Given the description of an element on the screen output the (x, y) to click on. 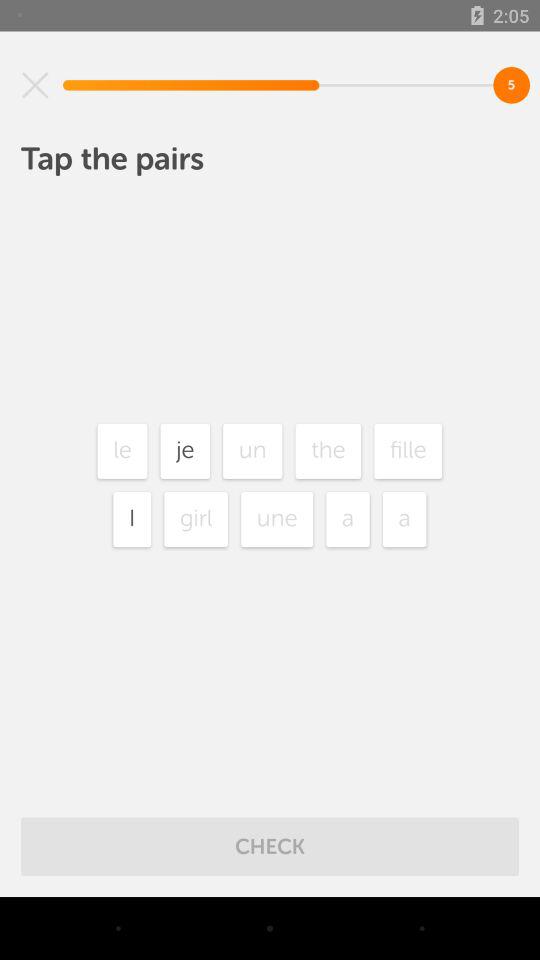
turn off icon to the left of the un icon (185, 450)
